Given the description of an element on the screen output the (x, y) to click on. 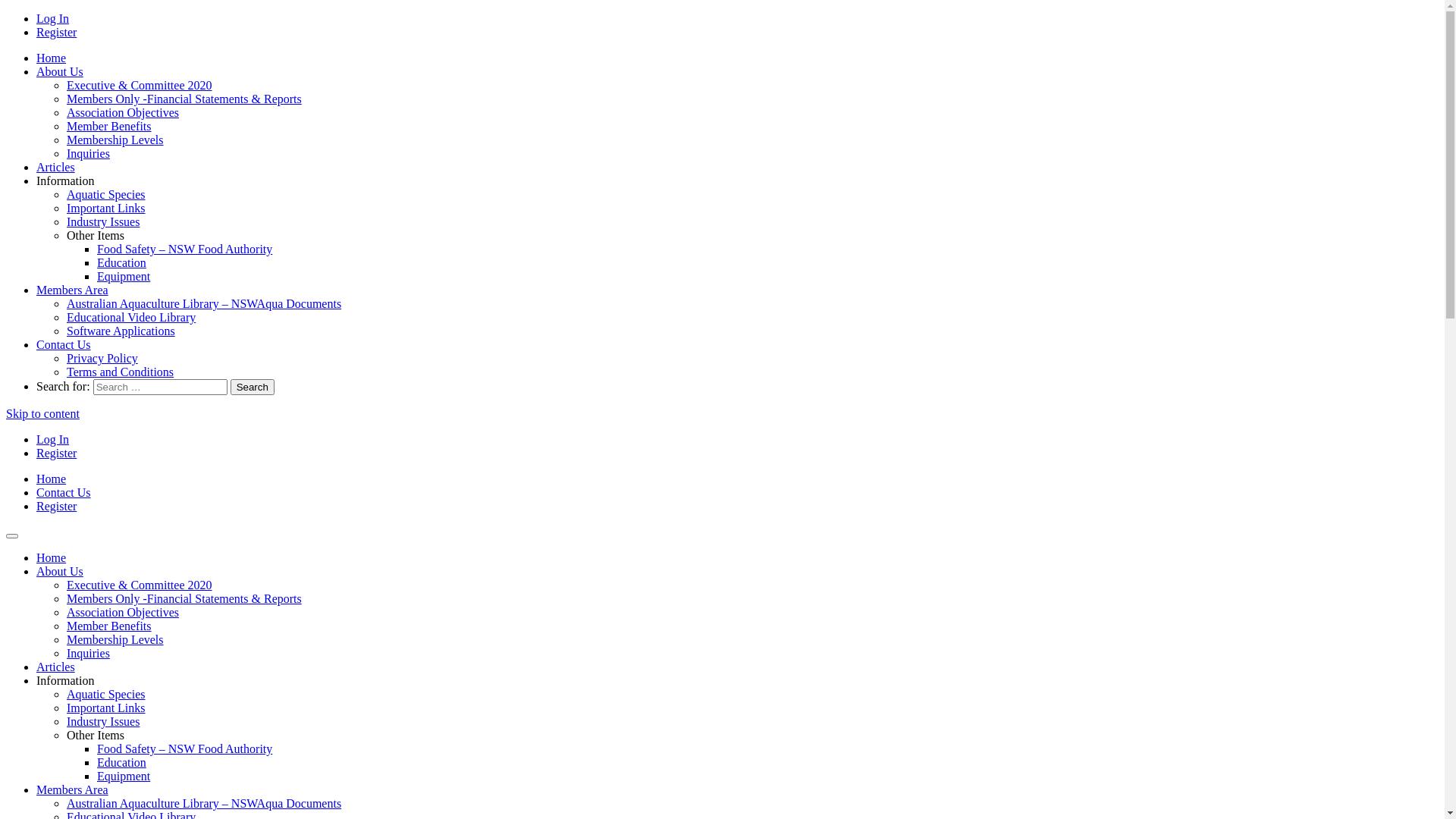
About Us Element type: text (59, 570)
Information Element type: text (65, 180)
Important Links Element type: text (105, 707)
Inquiries Element type: text (87, 652)
Members Area Element type: text (72, 289)
Important Links Element type: text (105, 207)
Log In Element type: text (52, 439)
Industry Issues Element type: text (102, 721)
Software Applications Element type: text (120, 330)
Members Only -Financial Statements & Reports Element type: text (183, 598)
Member Benefits Element type: text (108, 125)
Equipment Element type: text (123, 275)
Articles Element type: text (55, 166)
Association Objectives Element type: text (122, 611)
Education Element type: text (121, 762)
Home Element type: text (50, 57)
Search Element type: text (252, 387)
Association Objectives Element type: text (122, 112)
Register Element type: text (56, 452)
Members Only -Financial Statements & Reports Element type: text (183, 98)
About Us Element type: text (59, 71)
Inquiries Element type: text (87, 153)
Aquatic Species Element type: text (105, 693)
Skip to content Element type: text (42, 413)
Register Element type: text (56, 505)
Information Element type: text (65, 680)
Industry Issues Element type: text (102, 221)
Contact Us Element type: text (63, 492)
Terms and Conditions Element type: text (119, 371)
Home Element type: text (50, 478)
Other Items Element type: text (95, 734)
Executive & Committee 2020 Element type: text (139, 84)
Home Element type: text (50, 557)
Equipment Element type: text (123, 775)
Other Items Element type: text (95, 235)
Register Element type: text (56, 31)
Education Element type: text (121, 262)
Aquatic Species Element type: text (105, 194)
Privacy Policy Element type: text (102, 357)
Log In Element type: text (52, 18)
Membership Levels Element type: text (114, 639)
Executive & Committee 2020 Element type: text (139, 584)
Members Area Element type: text (72, 789)
Membership Levels Element type: text (114, 139)
Educational Video Library Element type: text (130, 316)
Member Benefits Element type: text (108, 625)
Contact Us Element type: text (63, 344)
Articles Element type: text (55, 666)
